Given the description of an element on the screen output the (x, y) to click on. 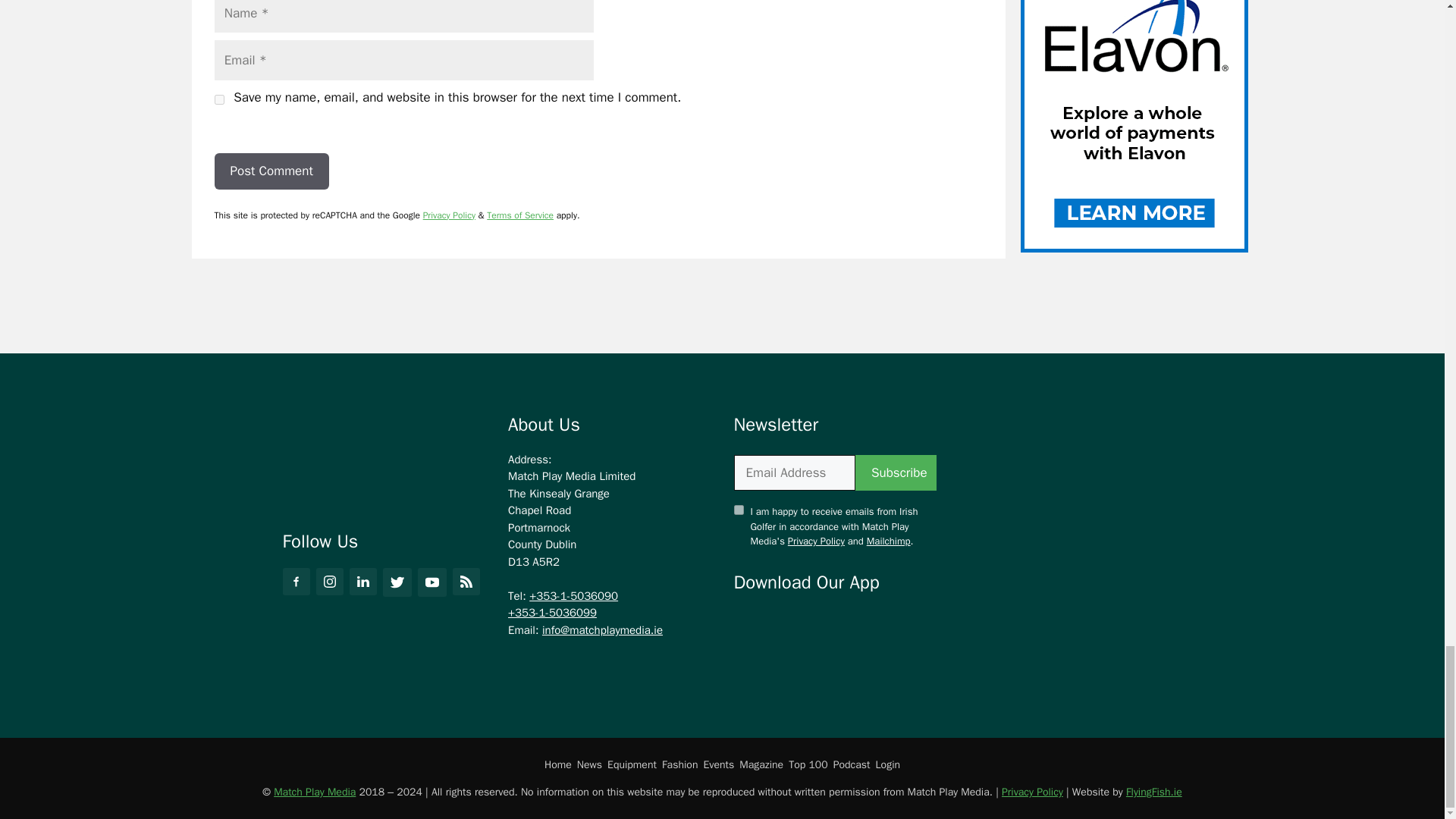
Y (738, 510)
Match Play Media Logo (366, 457)
Subscribe (896, 473)
yes (219, 99)
Post Comment (271, 171)
download-on-the-app-store (779, 625)
get-it-on-google-play-badge-logo (889, 625)
